Given the description of an element on the screen output the (x, y) to click on. 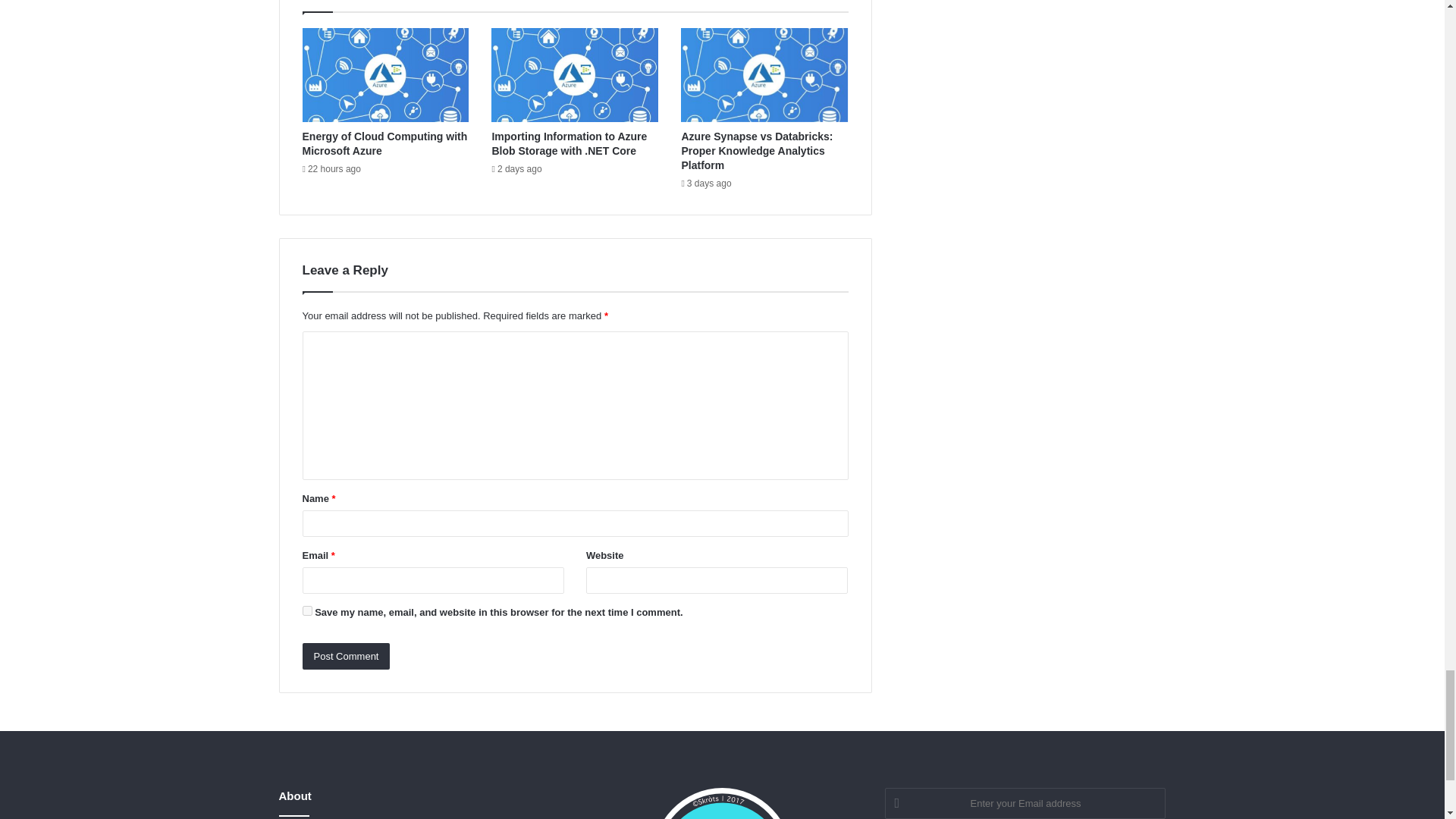
yes (306, 610)
Post Comment (345, 655)
